Given the description of an element on the screen output the (x, y) to click on. 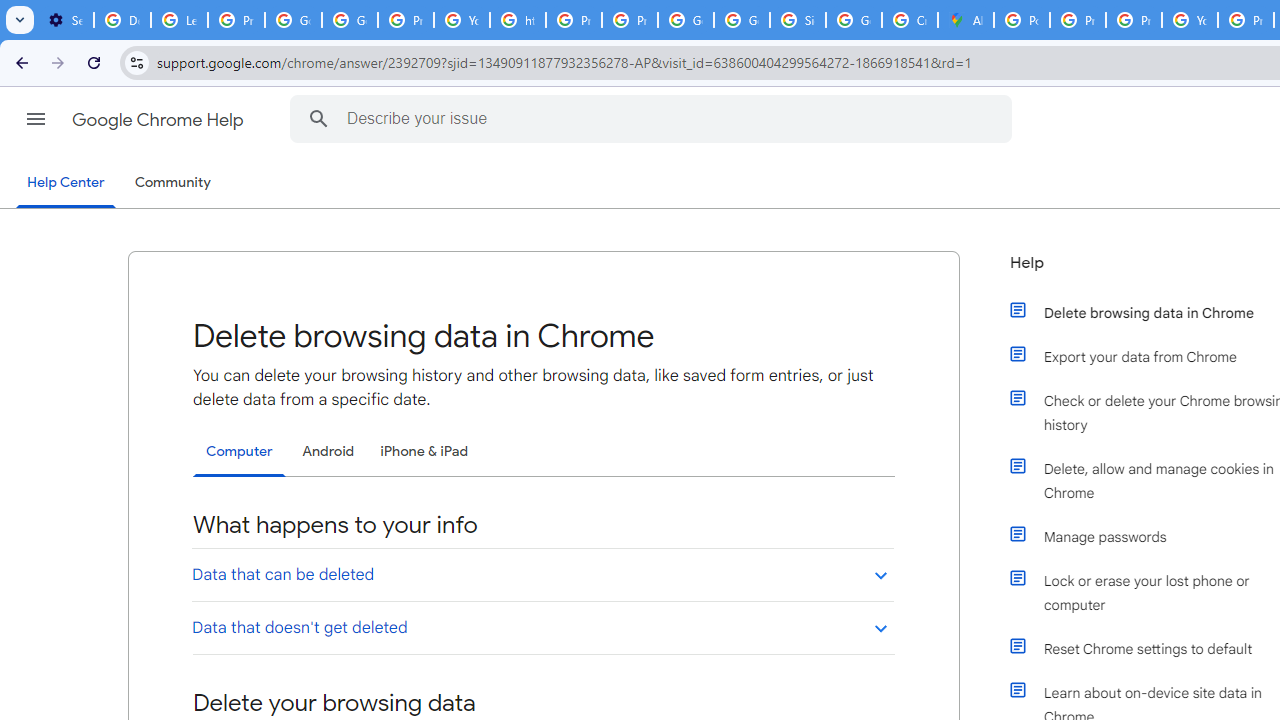
YouTube (461, 20)
Delete photos & videos - Computer - Google Photos Help (122, 20)
iPhone & iPad (424, 451)
Data that can be deleted (542, 574)
Settings - On startup (65, 20)
Privacy Help Center - Policies Help (1077, 20)
Computer (239, 451)
Create your Google Account (909, 20)
Community (171, 183)
YouTube (1190, 20)
Android (328, 451)
